Given the description of an element on the screen output the (x, y) to click on. 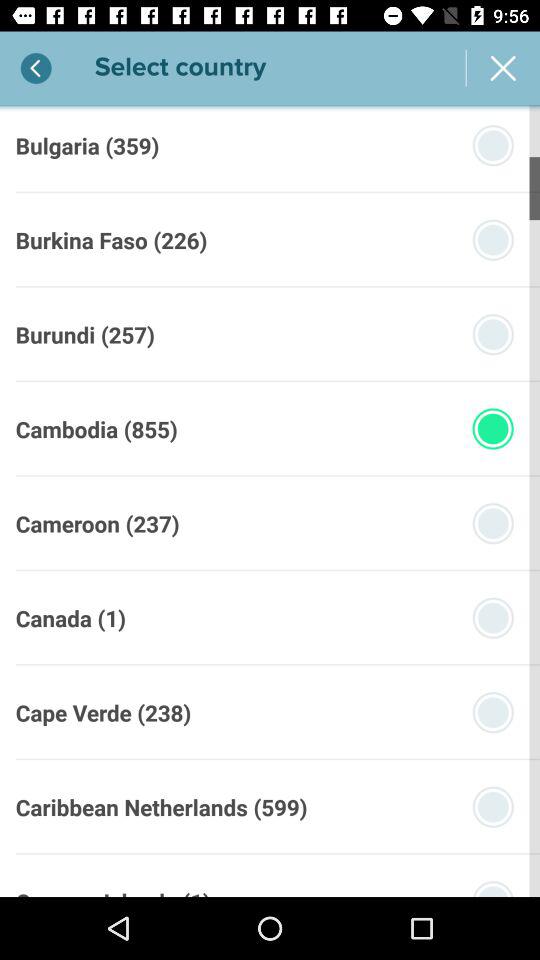
swipe until the bulgaria (359) item (87, 145)
